Given the description of an element on the screen output the (x, y) to click on. 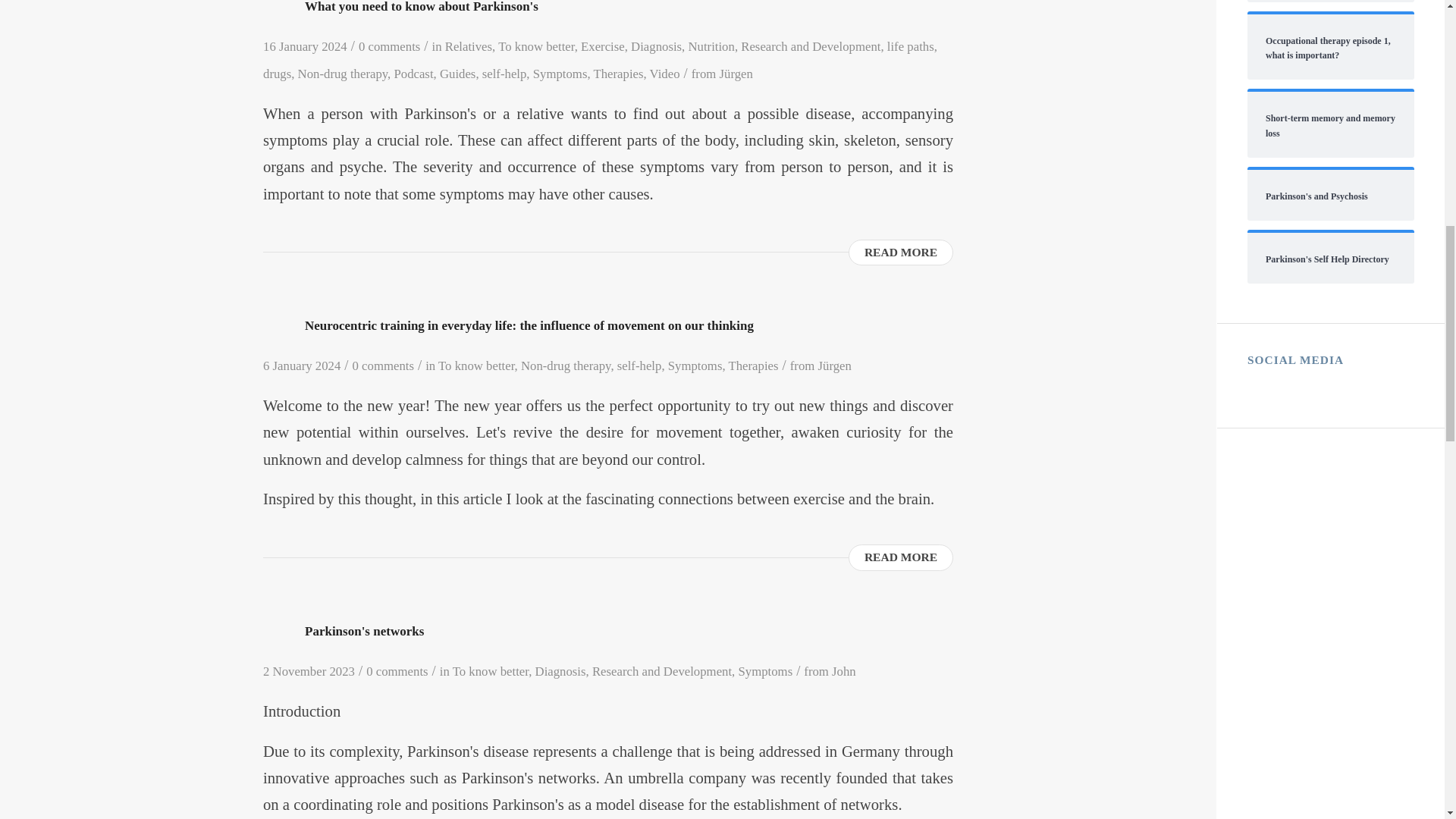
Parkinson's Self Help Directory (1330, 257)
YouTube (1312, 385)
Contributions by Johannes (843, 671)
Permanent link to: Parkinson's networks (363, 631)
Short-term memory and memory loss (1330, 123)
Occupational therapy episode 1, what is important? (1330, 46)
Permanent link to: What you need to know about Parkinson's (421, 6)
Facebook (1259, 385)
Parkinson's and Psychosis (1330, 195)
